Given the description of an element on the screen output the (x, y) to click on. 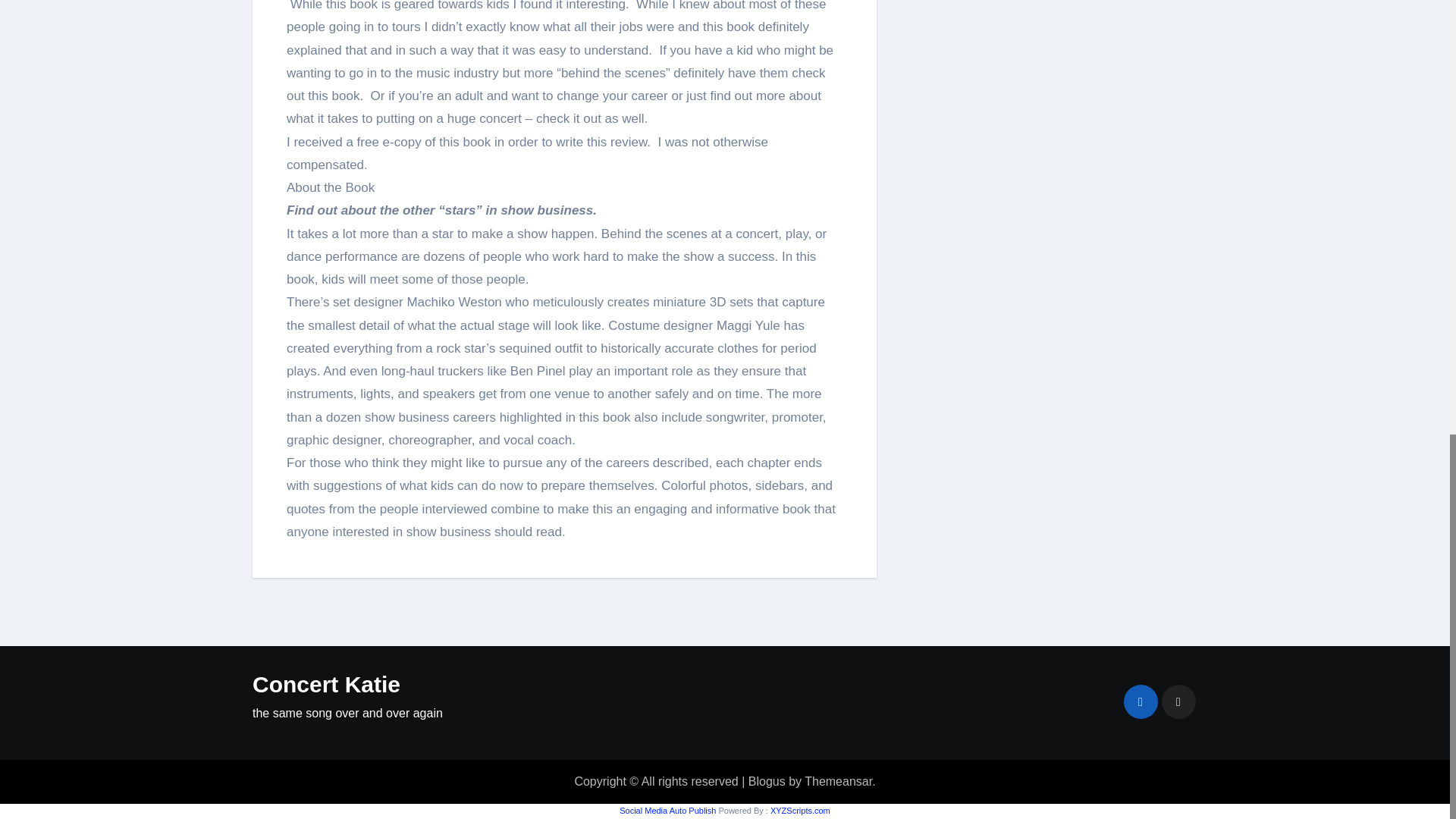
Social Media Auto Publish (668, 809)
